Given the description of an element on the screen output the (x, y) to click on. 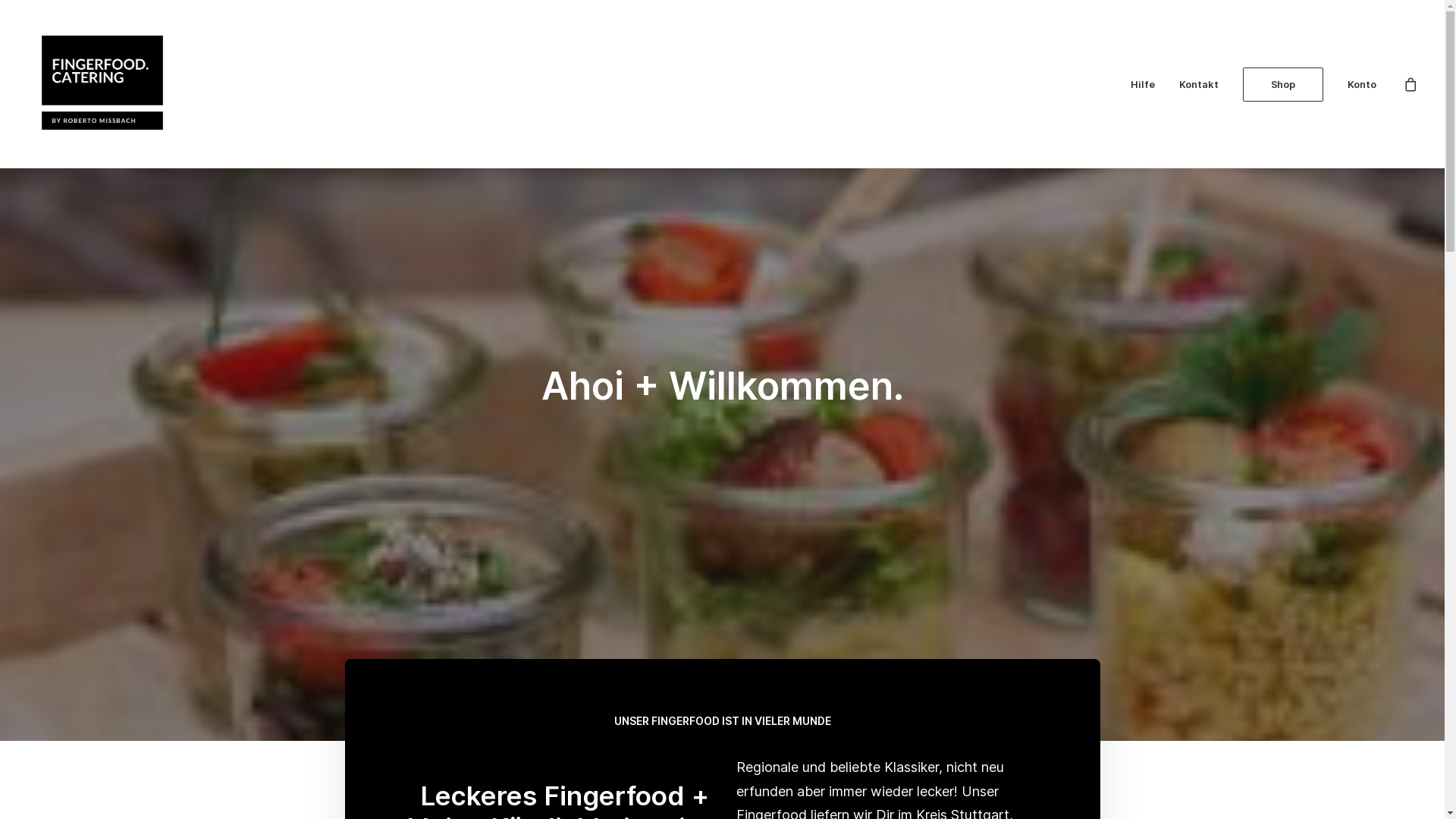
Hilfe Element type: text (1142, 84)
cart Element type: hover (1410, 84)
Konto Element type: text (1355, 84)
Kontakt Element type: text (1198, 84)
Shop Element type: text (1282, 83)
